Given the description of an element on the screen output the (x, y) to click on. 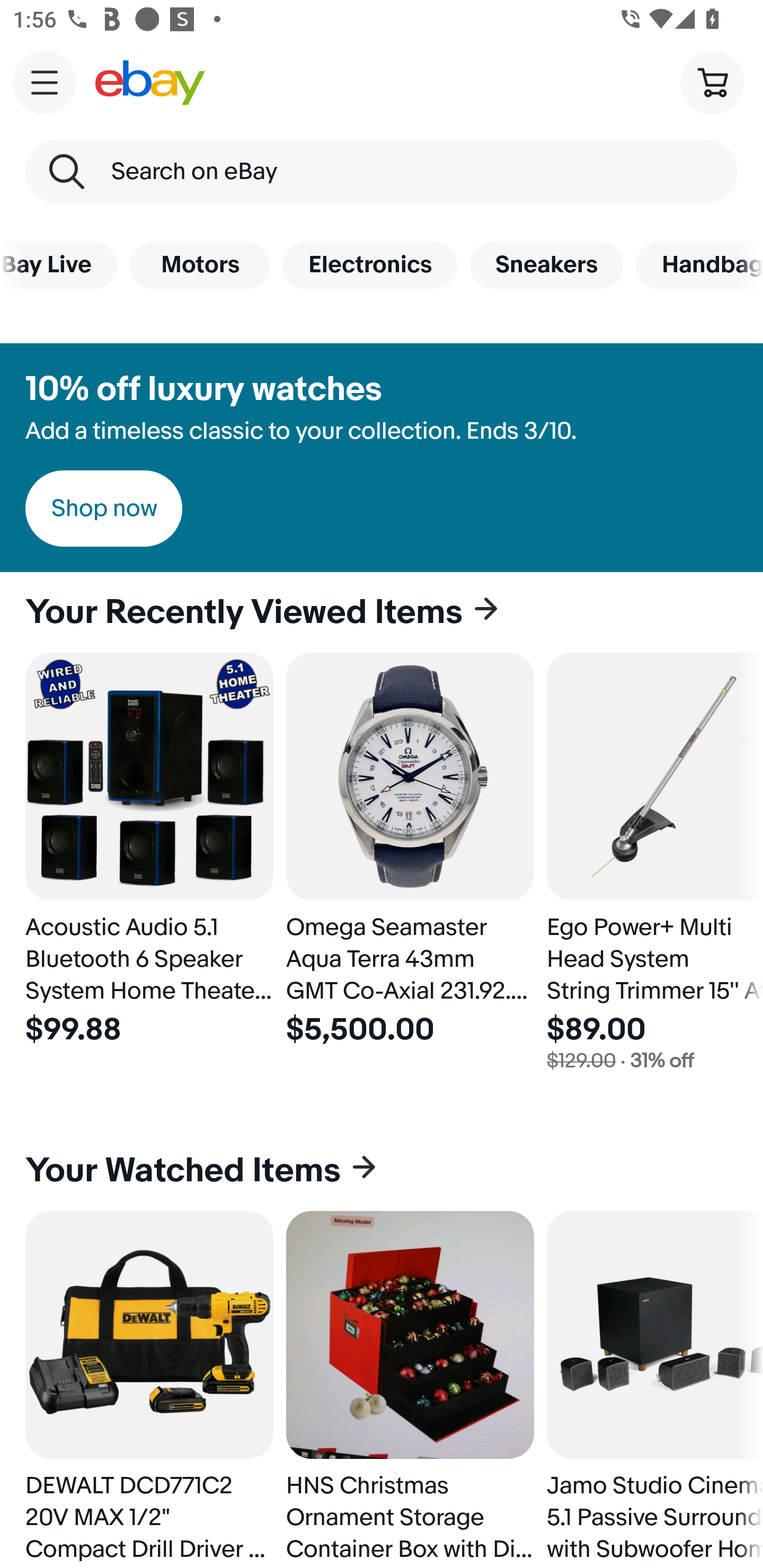
Main navigation, open (44, 82)
Cart button shopping cart (711, 81)
Search on eBay Search Keyword Search on eBay (381, 171)
eBay Live (58, 264)
Motors (199, 264)
Electronics (369, 264)
Sneakers (546, 264)
Handbags (699, 264)
10% off luxury watches (203, 389)
Shop now (103, 508)
Your Recently Viewed Items   (381, 612)
Your Watched Items   (381, 1170)
